Given the description of an element on the screen output the (x, y) to click on. 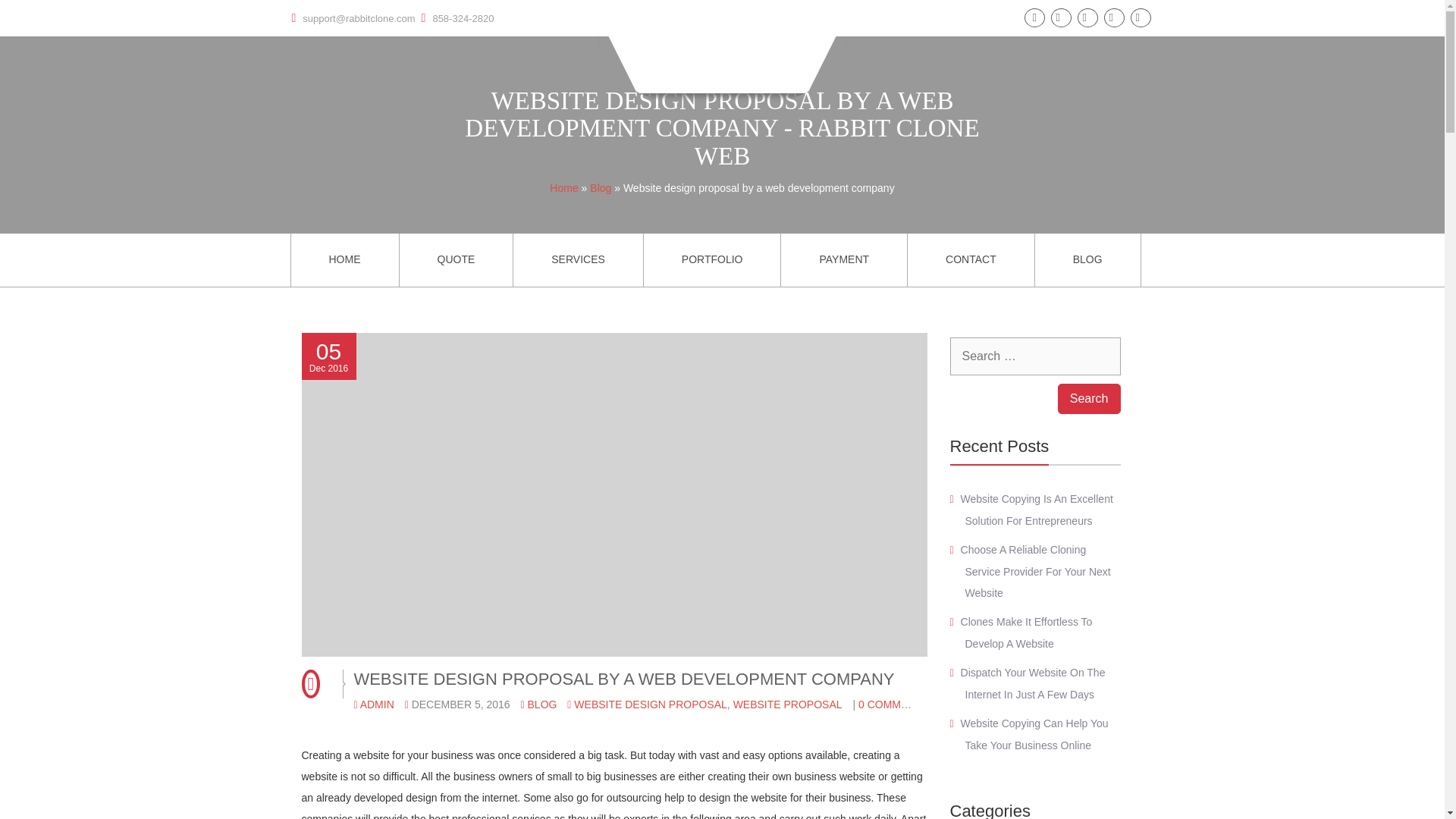
Clones Make It Effortless To Develop A Website (1026, 632)
admin (376, 704)
Website Copying Can Help You Take Your Business Online (1034, 734)
CONTACT (970, 259)
QUOTE (455, 259)
Search (1089, 399)
ADMIN (376, 704)
HOME (344, 259)
Dispatch Your Website On The Internet In Just A Few Days (1032, 683)
